Given the description of an element on the screen output the (x, y) to click on. 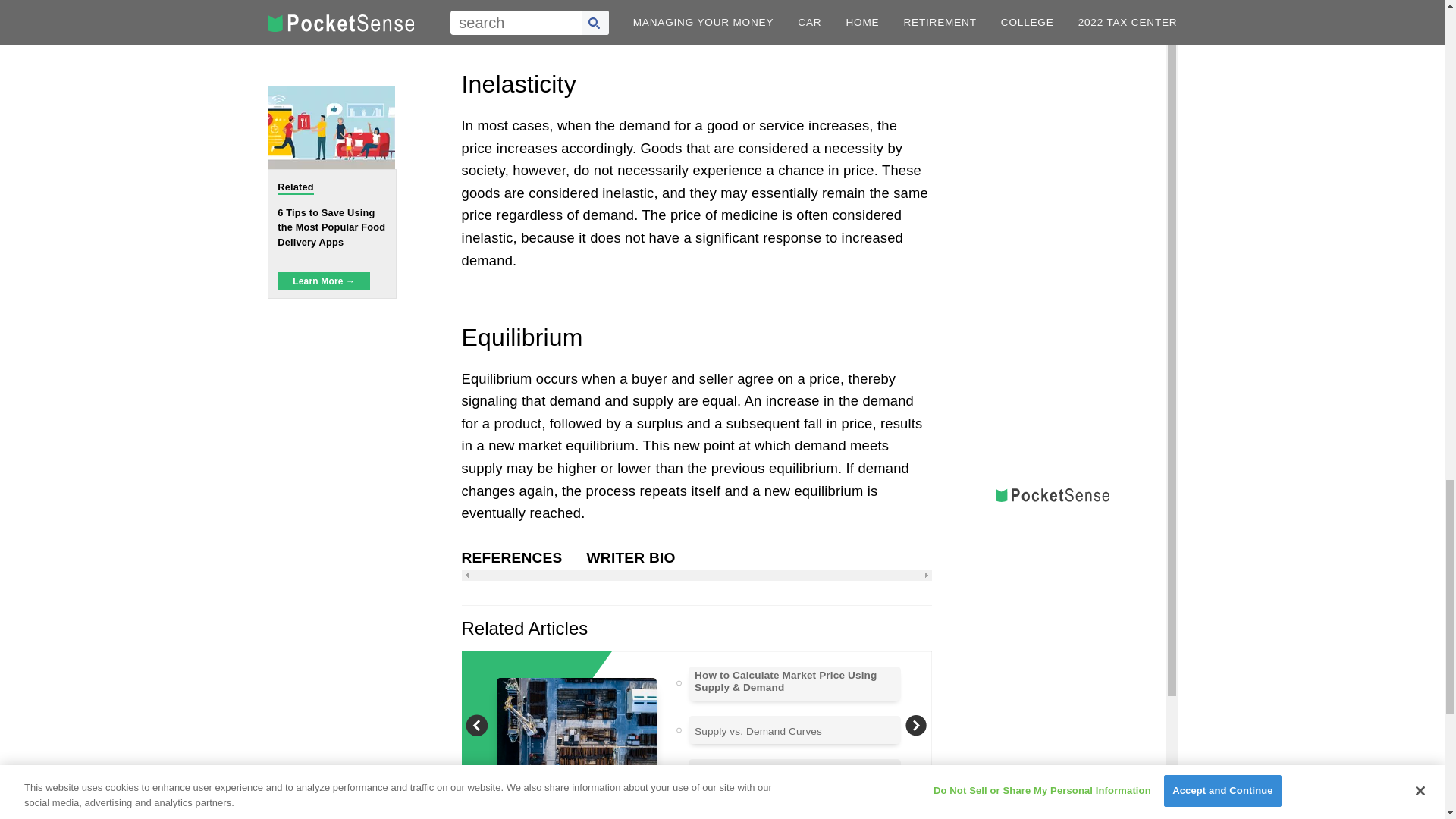
Why Is the Supply Curve Upward Sloping? (793, 775)
Supply vs. Demand Curves (758, 731)
